Given the description of an element on the screen output the (x, y) to click on. 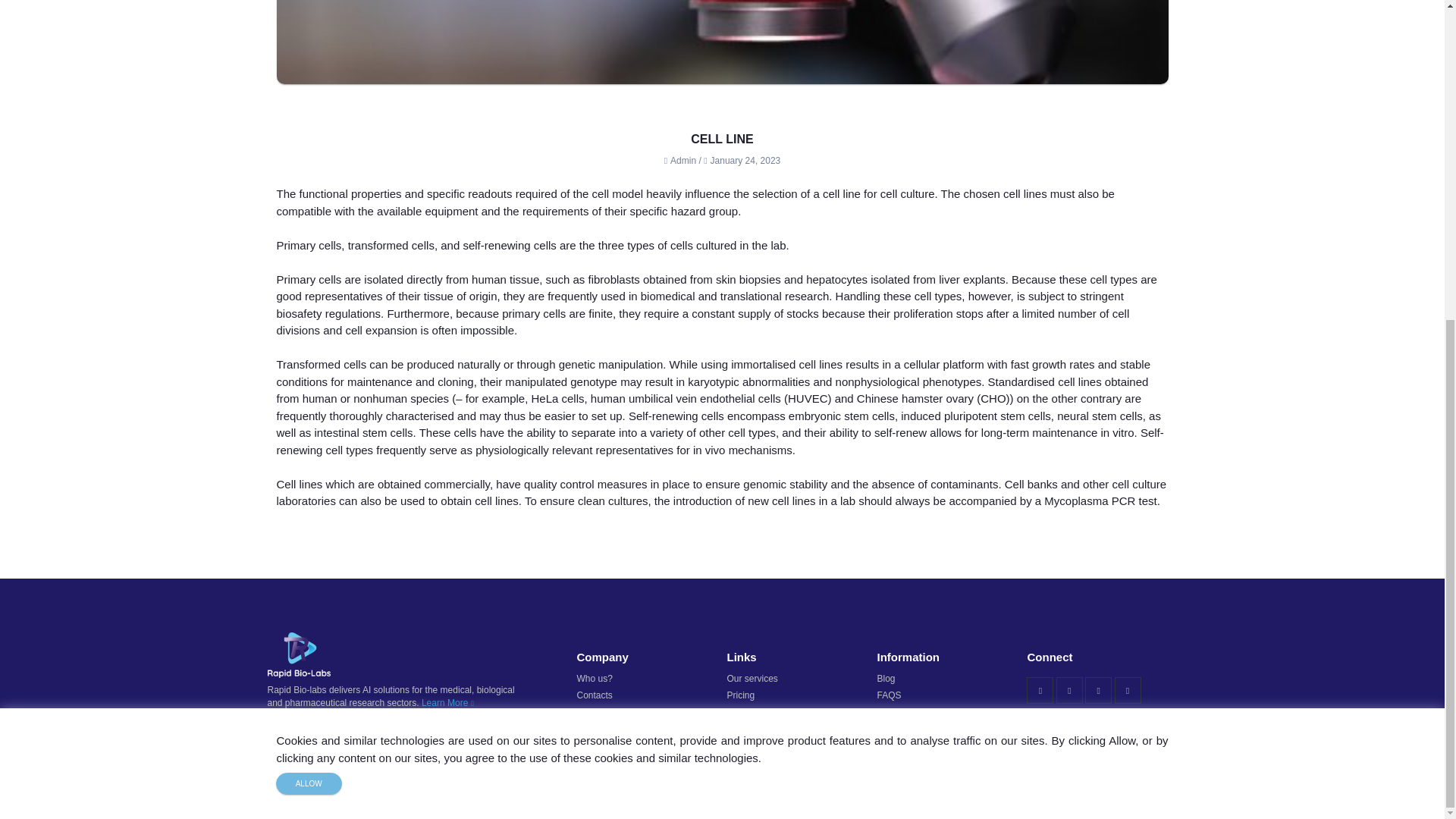
Blog (885, 678)
Contacts (593, 695)
FAQS (888, 695)
ALLOW (309, 265)
Rapid Bio-Labs (378, 793)
Pricing (740, 695)
Privacy Policy (1050, 793)
Learn More (448, 702)
Our services (751, 678)
Who us? (593, 678)
